Given the description of an element on the screen output the (x, y) to click on. 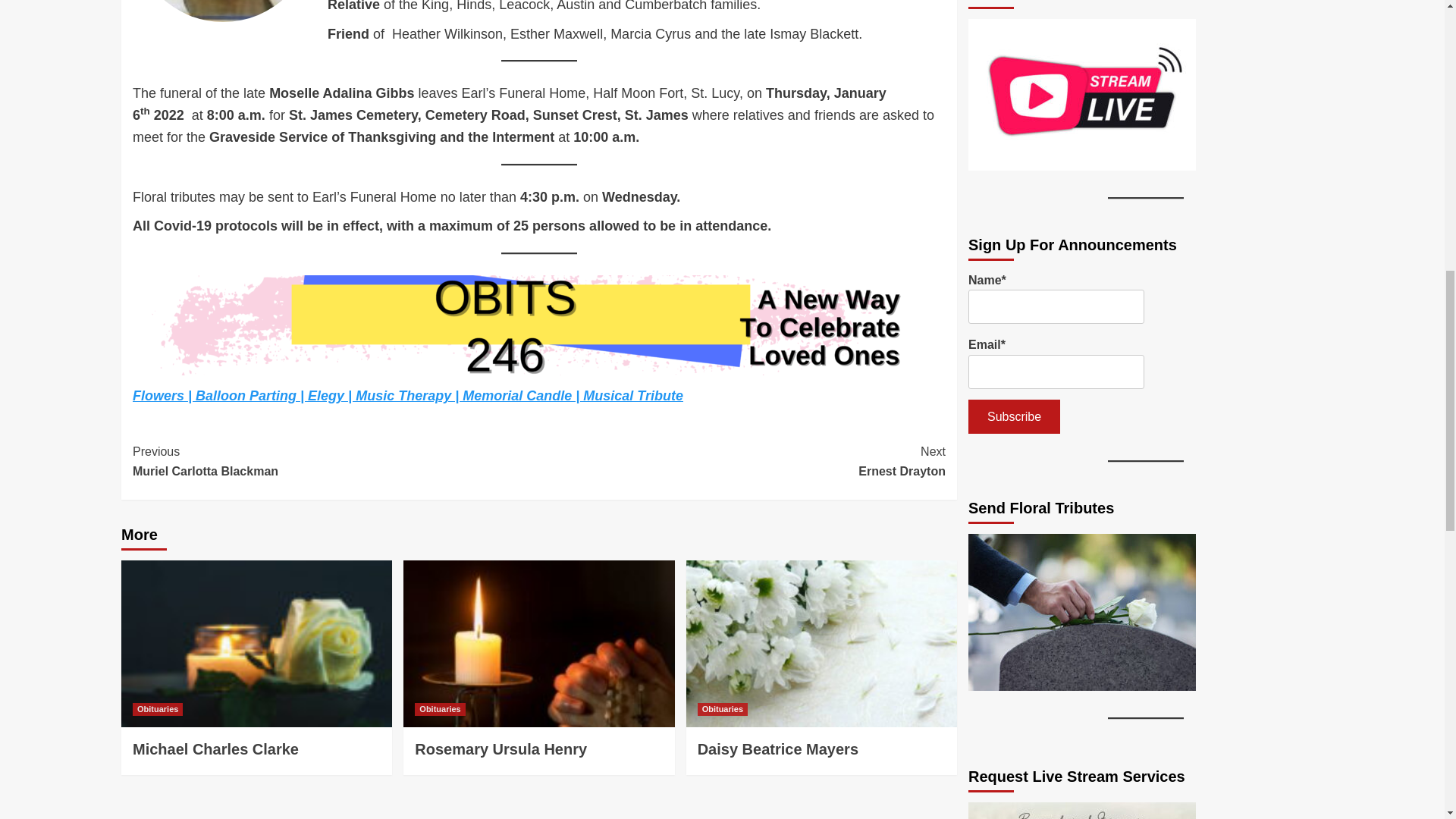
Daisy Beatrice Mayers (778, 749)
Subscribe (1013, 416)
Obituaries (722, 708)
Obituaries (335, 461)
Rosemary Ursula Henry (741, 461)
Obituaries (439, 708)
Subscribe (500, 749)
Michael Charles Clarke (157, 708)
